Given the description of an element on the screen output the (x, y) to click on. 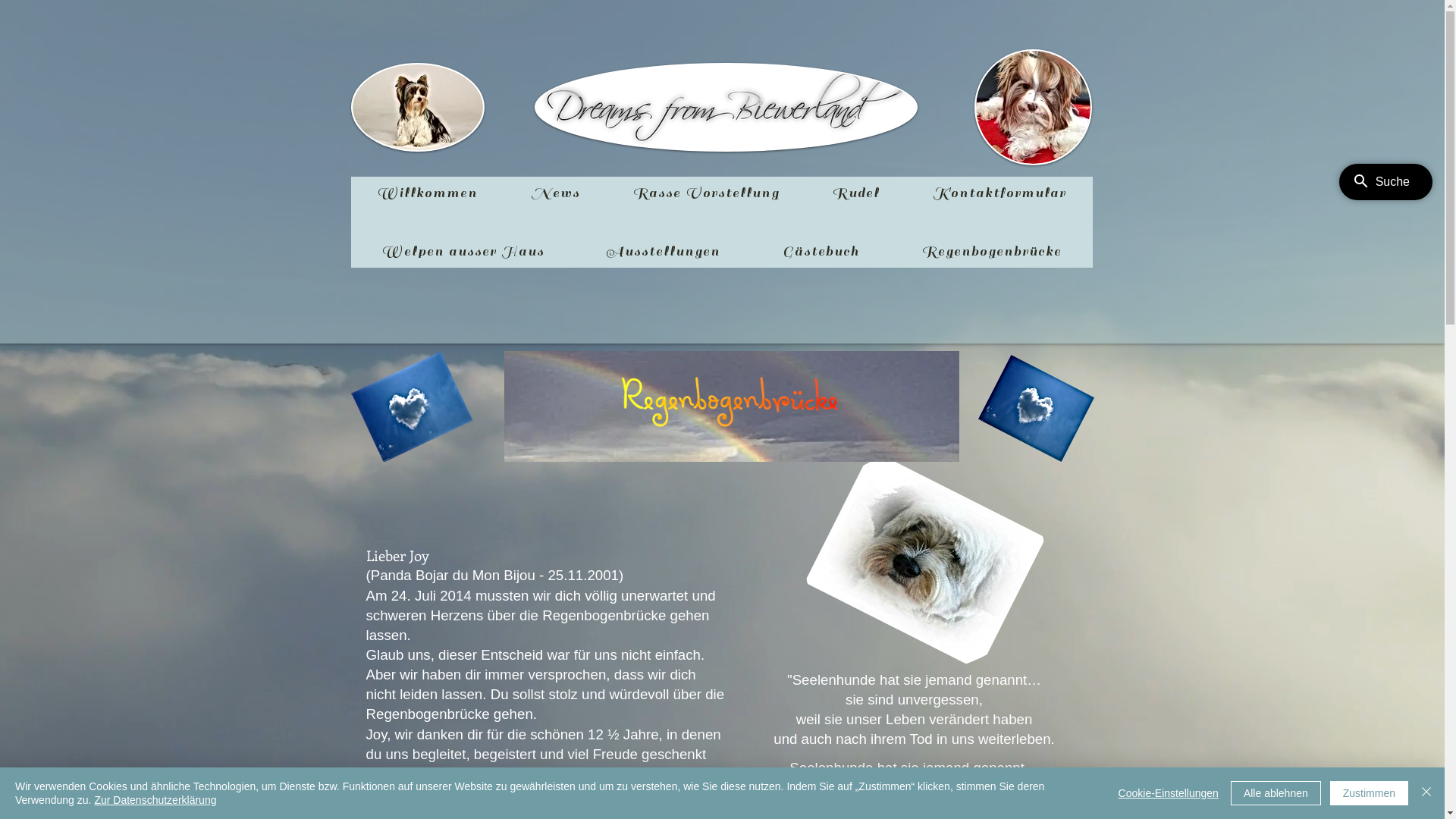
cooltext396438786022838.png Element type: hover (724, 106)
Rudel Element type: text (856, 192)
Zustimmen Element type: text (1369, 793)
Welpen ausser Haus Element type: text (462, 251)
Rasse Vorstellung Element type: text (705, 192)
News Element type: text (554, 192)
laila.jpg Element type: hover (416, 106)
Regenbogen.jpg Element type: hover (730, 406)
Kontaktformular Element type: text (999, 192)
Ausstellungen Element type: text (663, 251)
Willkommen Element type: text (426, 192)
Alle ablehnen Element type: text (1275, 793)
Aladin auf dem Sofa.jpg Element type: hover (1032, 107)
